Given the description of an element on the screen output the (x, y) to click on. 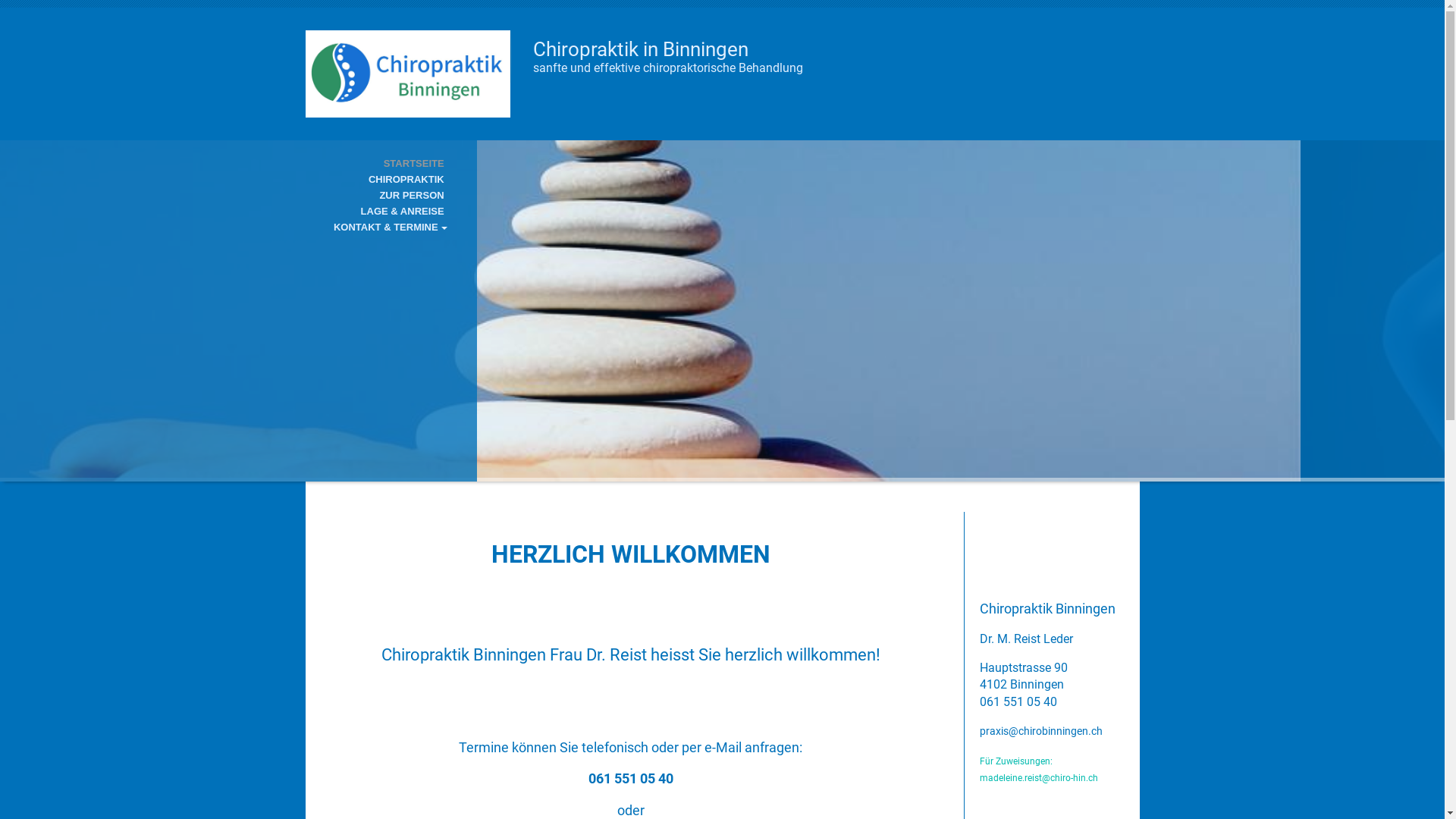
CHIROPRAKTIK Element type: text (230, 179)
KONTAKT & TERMINE Element type: text (230, 227)
STARTSEITE Element type: text (230, 163)
  Element type: text (406, 37)
ZUR PERSON Element type: text (230, 195)
LAGE & ANREISE Element type: text (230, 211)
